Given the description of an element on the screen output the (x, y) to click on. 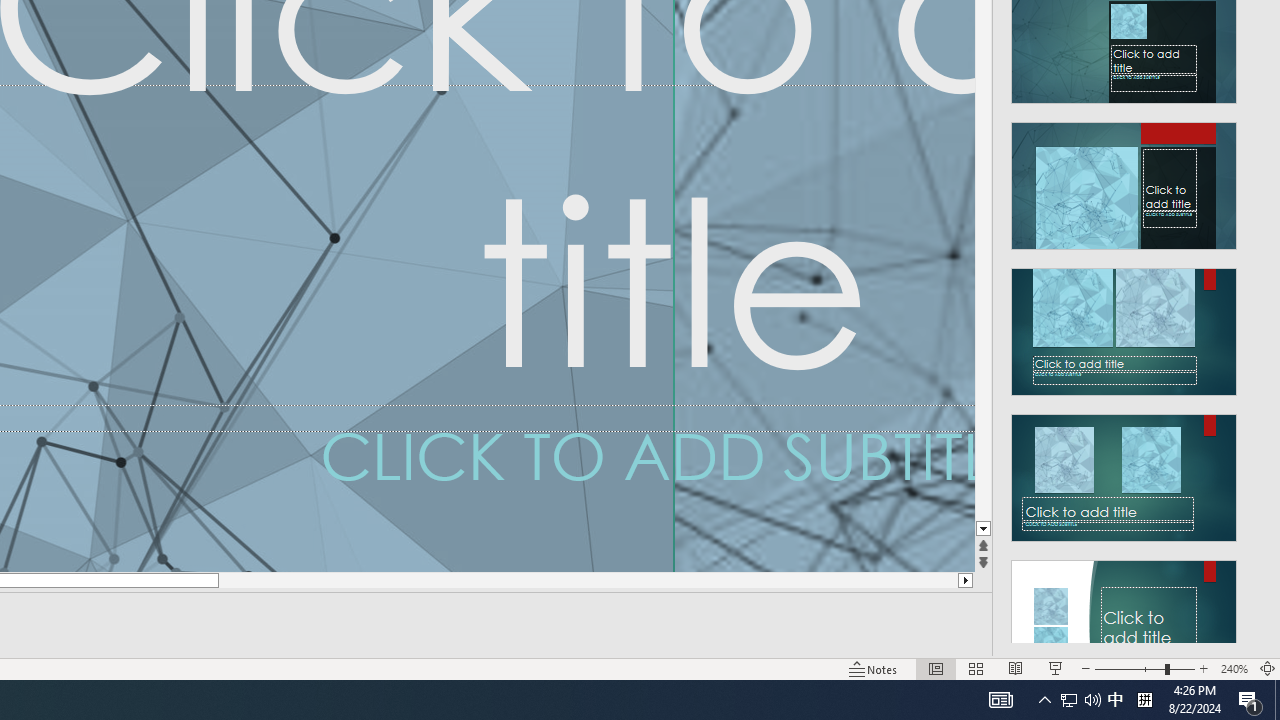
Reading View (1015, 668)
Normal (936, 668)
Notes  (874, 668)
Zoom (1144, 668)
Class: NetUIImage (1124, 623)
Design Idea (1124, 618)
Zoom Out (1129, 668)
Zoom 240% (1234, 668)
Zoom to Fit  (1267, 668)
Slide Sorter (975, 668)
Zoom In (1204, 668)
